Given the description of an element on the screen output the (x, y) to click on. 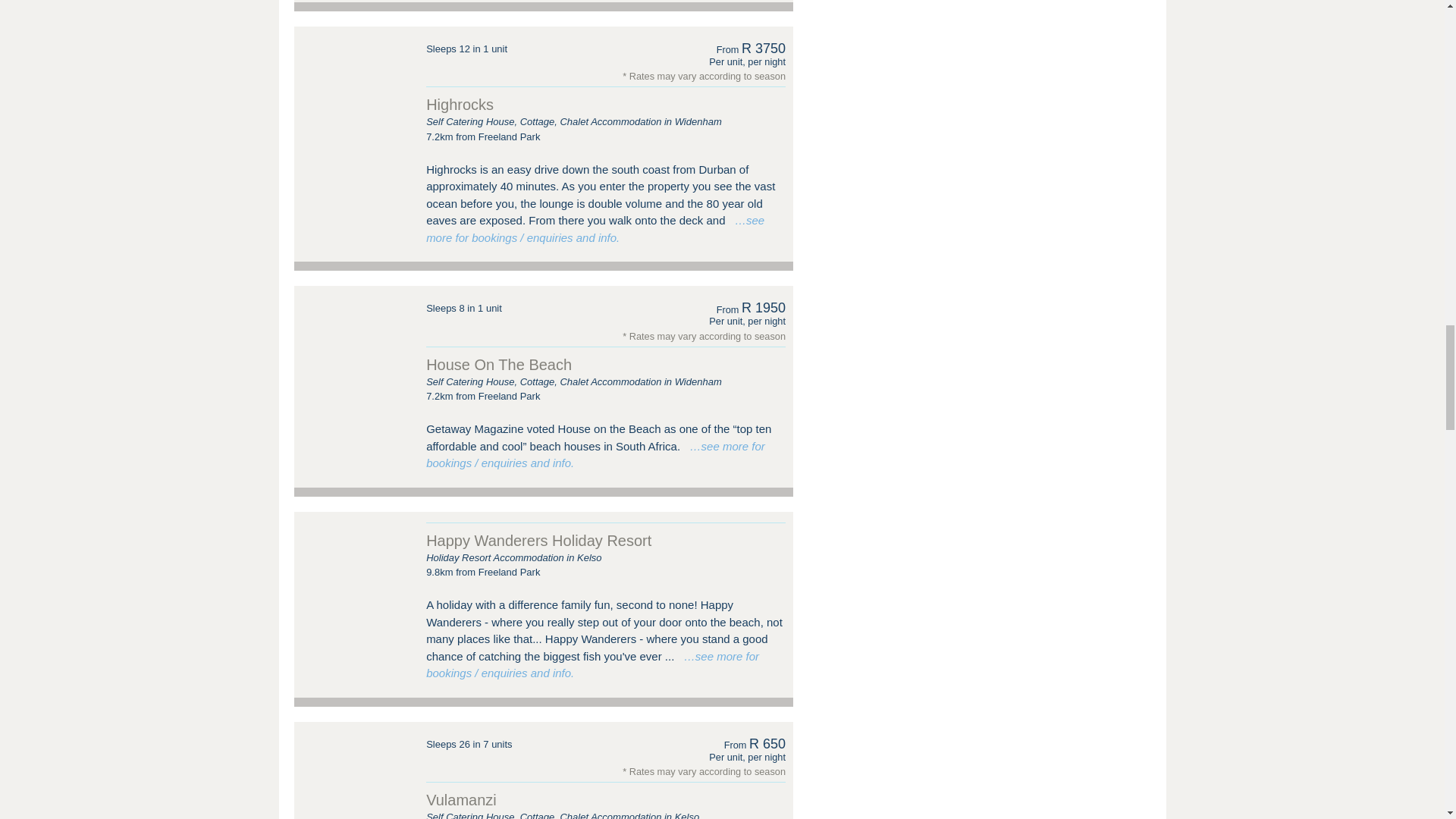
House On The Beach (356, 329)
Happy Wanderers Holiday Resort (356, 555)
Vulamanzi (356, 765)
Highrocks (356, 70)
